Given the description of an element on the screen output the (x, y) to click on. 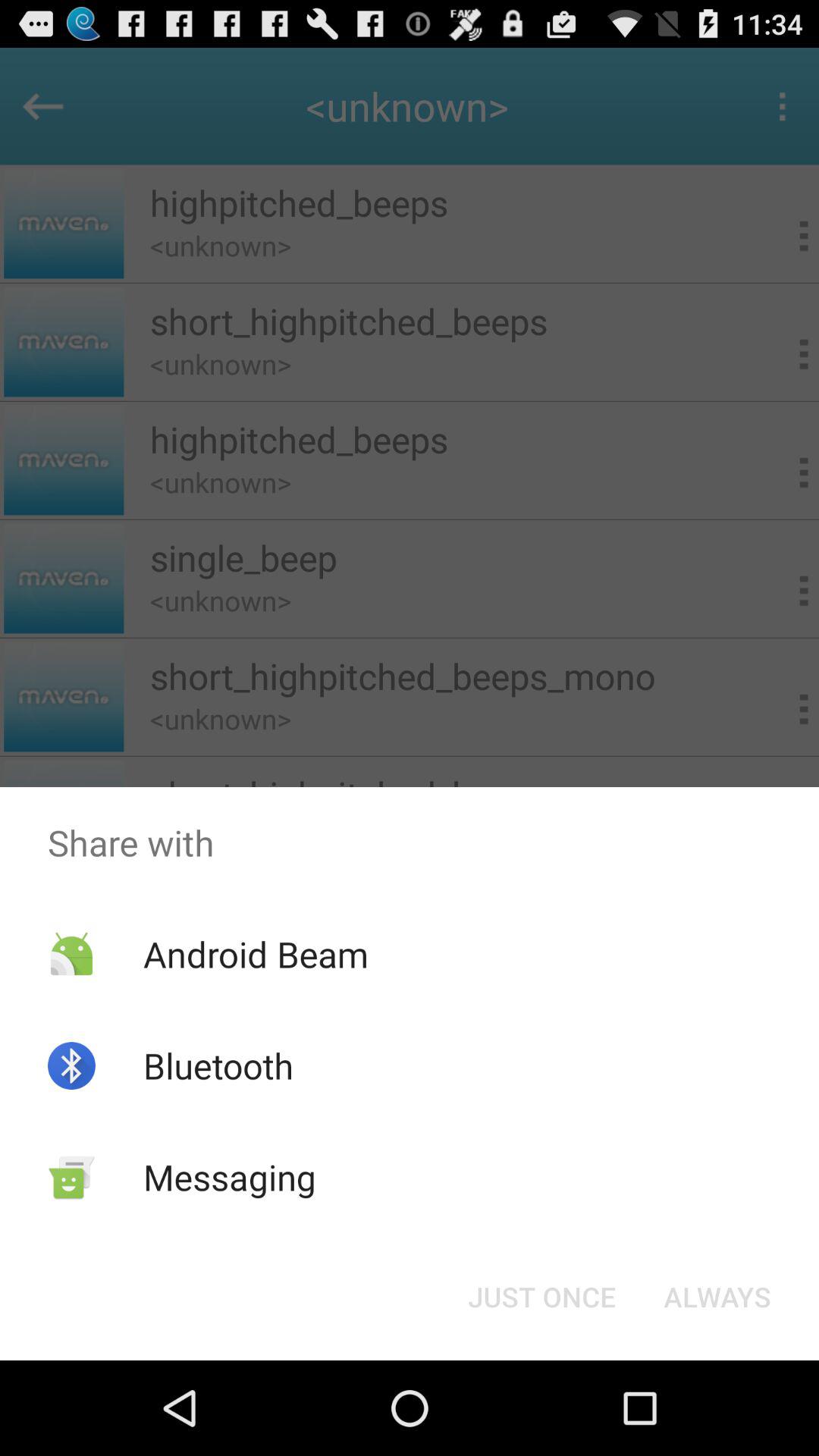
select the app above the bluetooth app (255, 953)
